Given the description of an element on the screen output the (x, y) to click on. 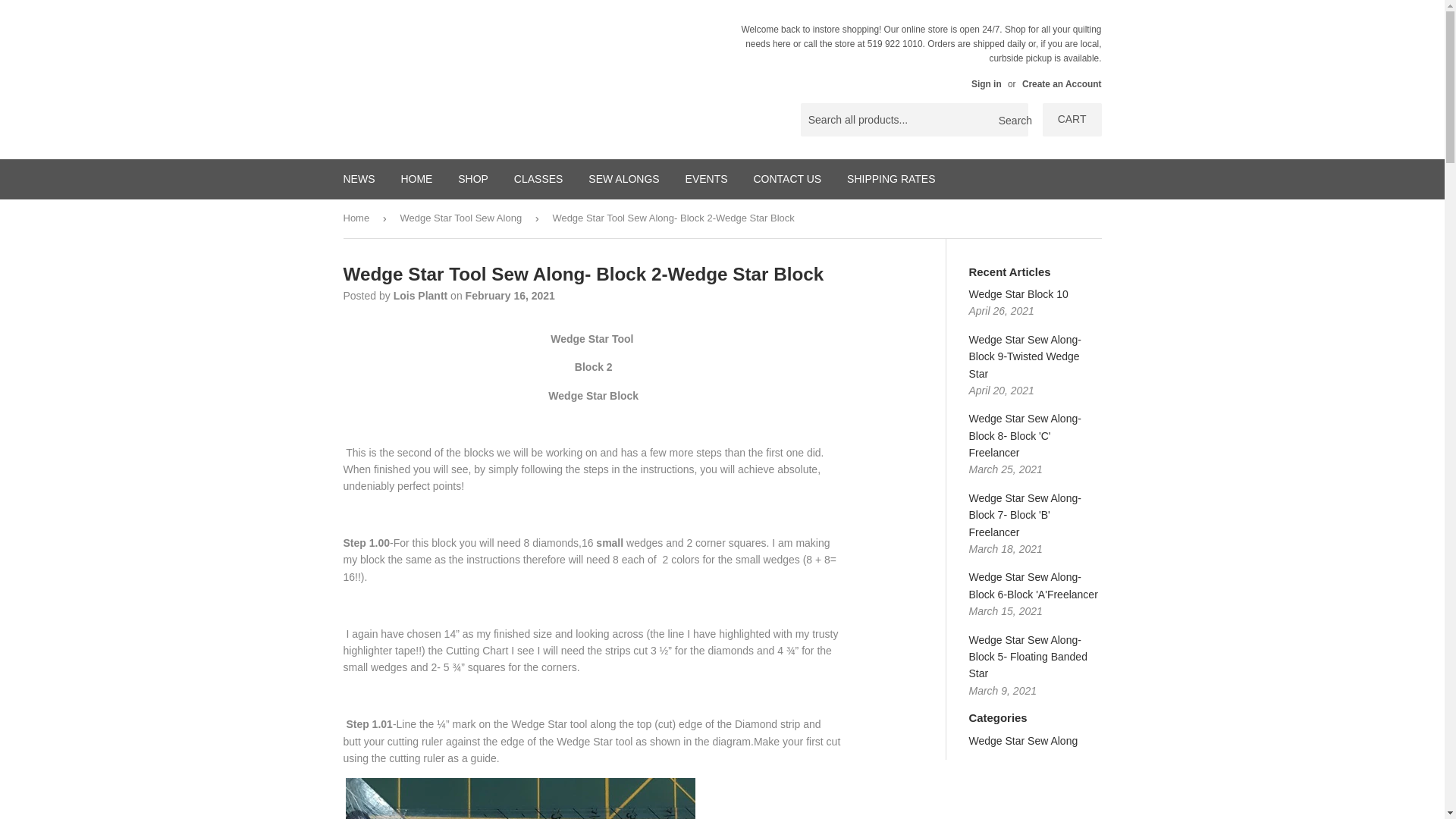
Show articles tagged Wedge Star Sew Along (1023, 740)
Create an Account (1062, 83)
NEWS (359, 178)
CART (1072, 119)
Search (1010, 120)
Sign in (986, 83)
HOME (416, 178)
